Given the description of an element on the screen output the (x, y) to click on. 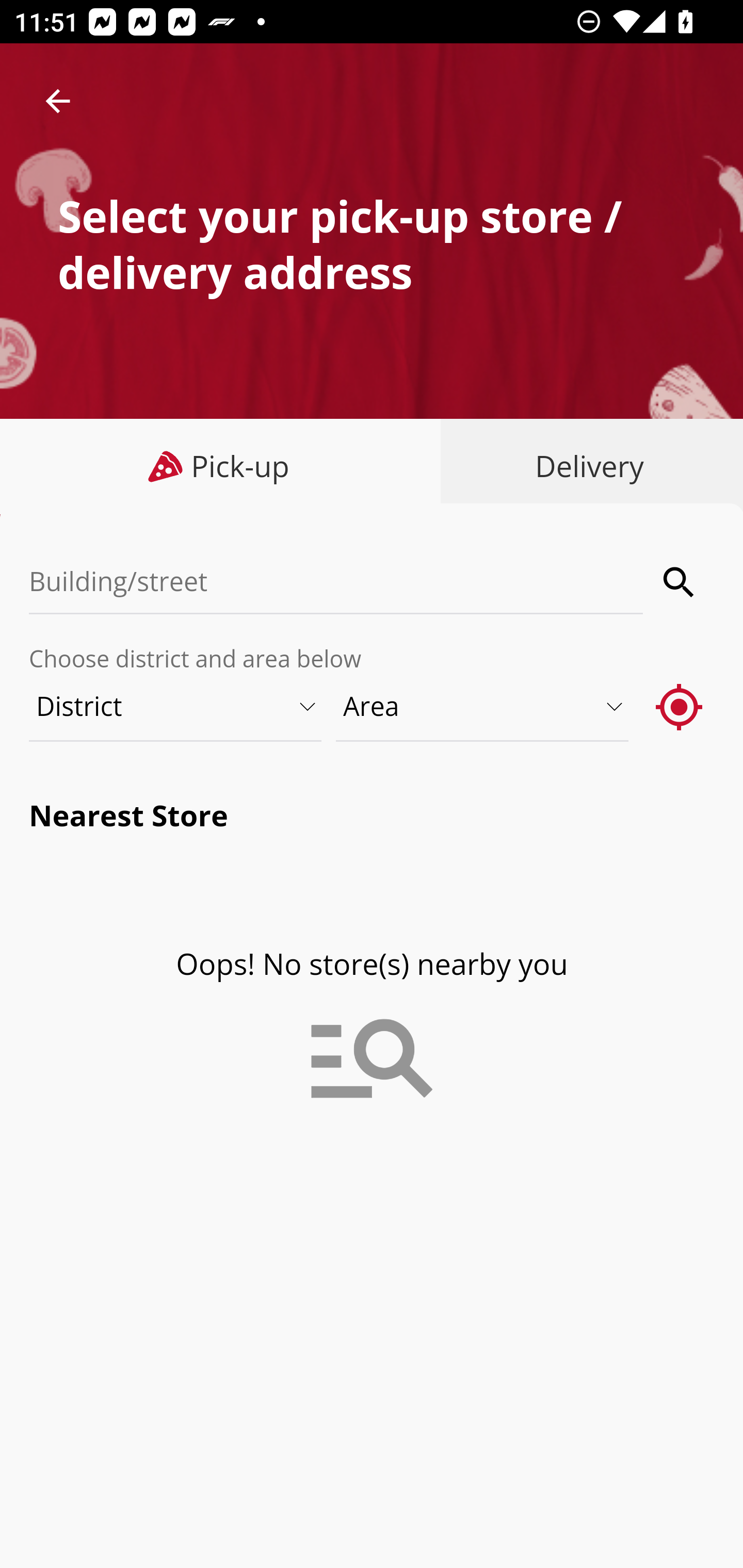
arrow_back (58, 100)
Pick-up (221, 466)
Delivery (585, 466)
search (679, 582)
gps_fixed (679, 706)
District (175, 706)
Area (482, 706)
